Given the description of an element on the screen output the (x, y) to click on. 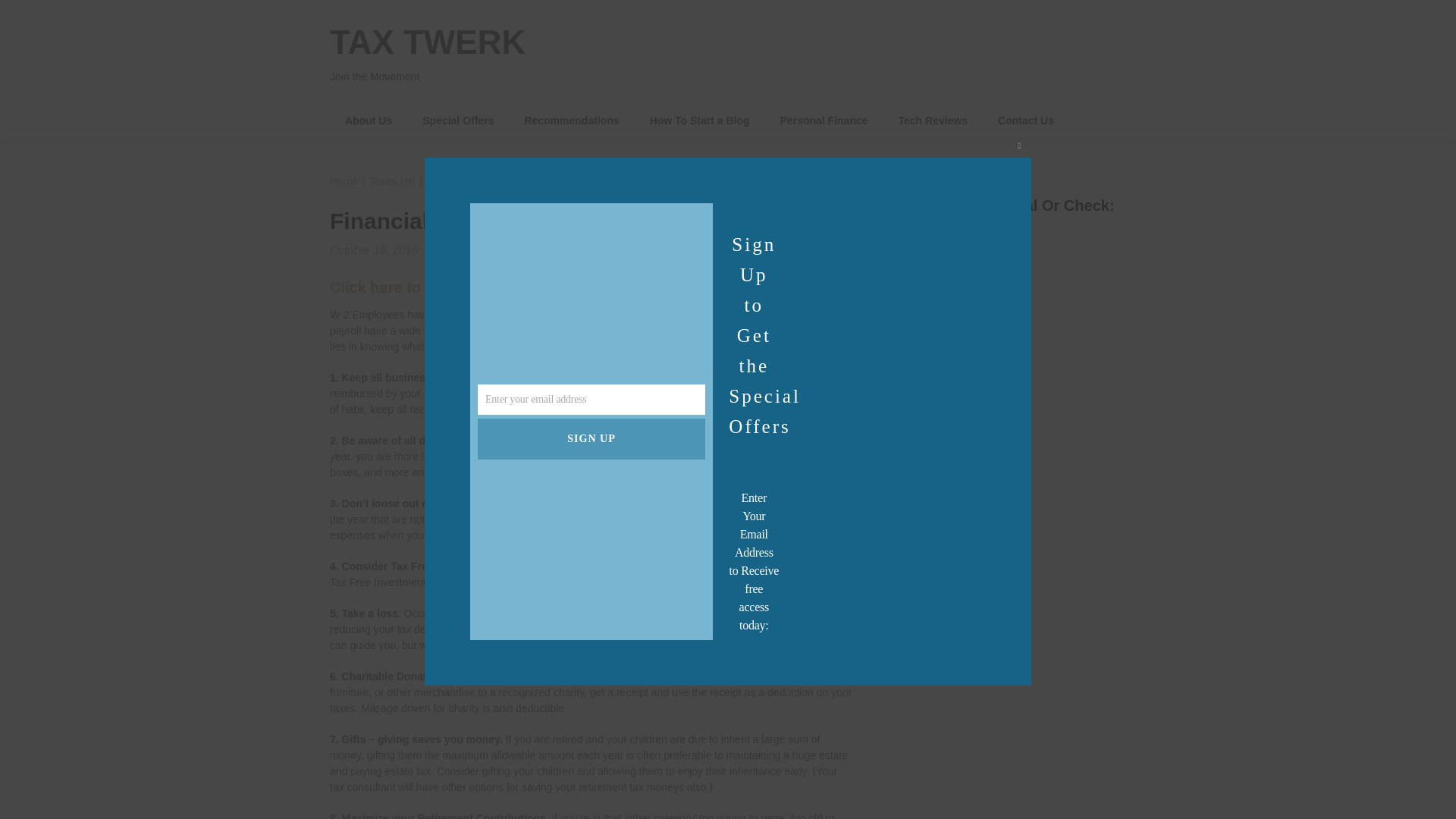
Tech Reviews (933, 121)
TAX TWERK (427, 41)
Special Offers (457, 121)
Click here to get a Free Quote for your income tax return (534, 287)
Personal Finance (824, 121)
Taxes UK (391, 181)
Home (344, 181)
How To Start a Blog (699, 121)
Get Paid By PayPal Or Check: (997, 331)
About Us (368, 121)
Contact Us (1025, 121)
Personal Finance (824, 121)
Recommendations (570, 121)
How To Start a Blog (699, 121)
Tech Reviews (933, 121)
